Given the description of an element on the screen output the (x, y) to click on. 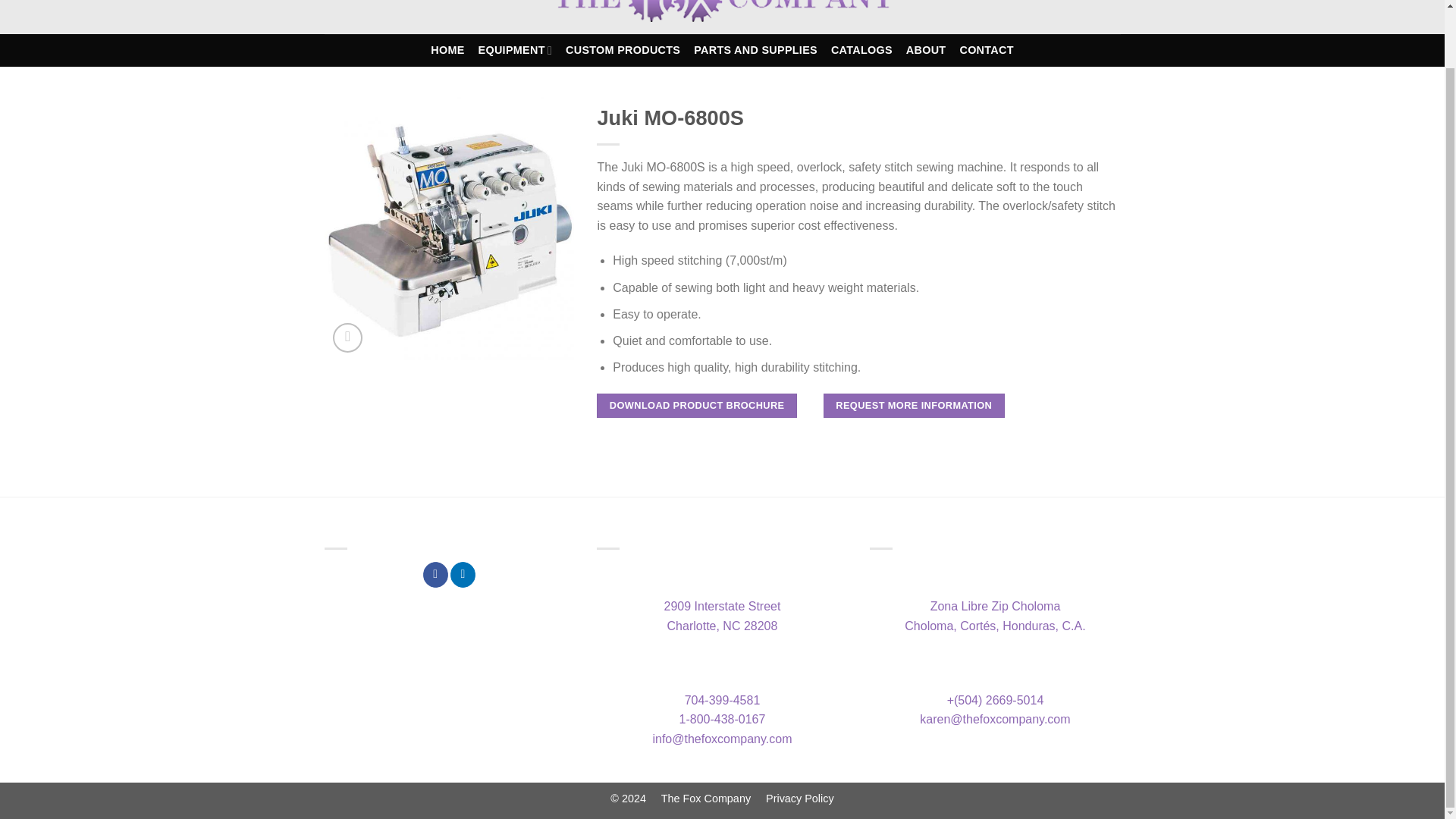
HOME (447, 50)
CONTACT (986, 50)
ABOUT (721, 616)
PARTS AND SUPPLIES (925, 50)
CATALOGS (755, 50)
DOWNLOAD PRODUCT BROCHURE (861, 50)
EQUIPMENT (696, 405)
mo6800s (515, 50)
CUSTOM PRODUCTS (449, 228)
